Given the description of an element on the screen output the (x, y) to click on. 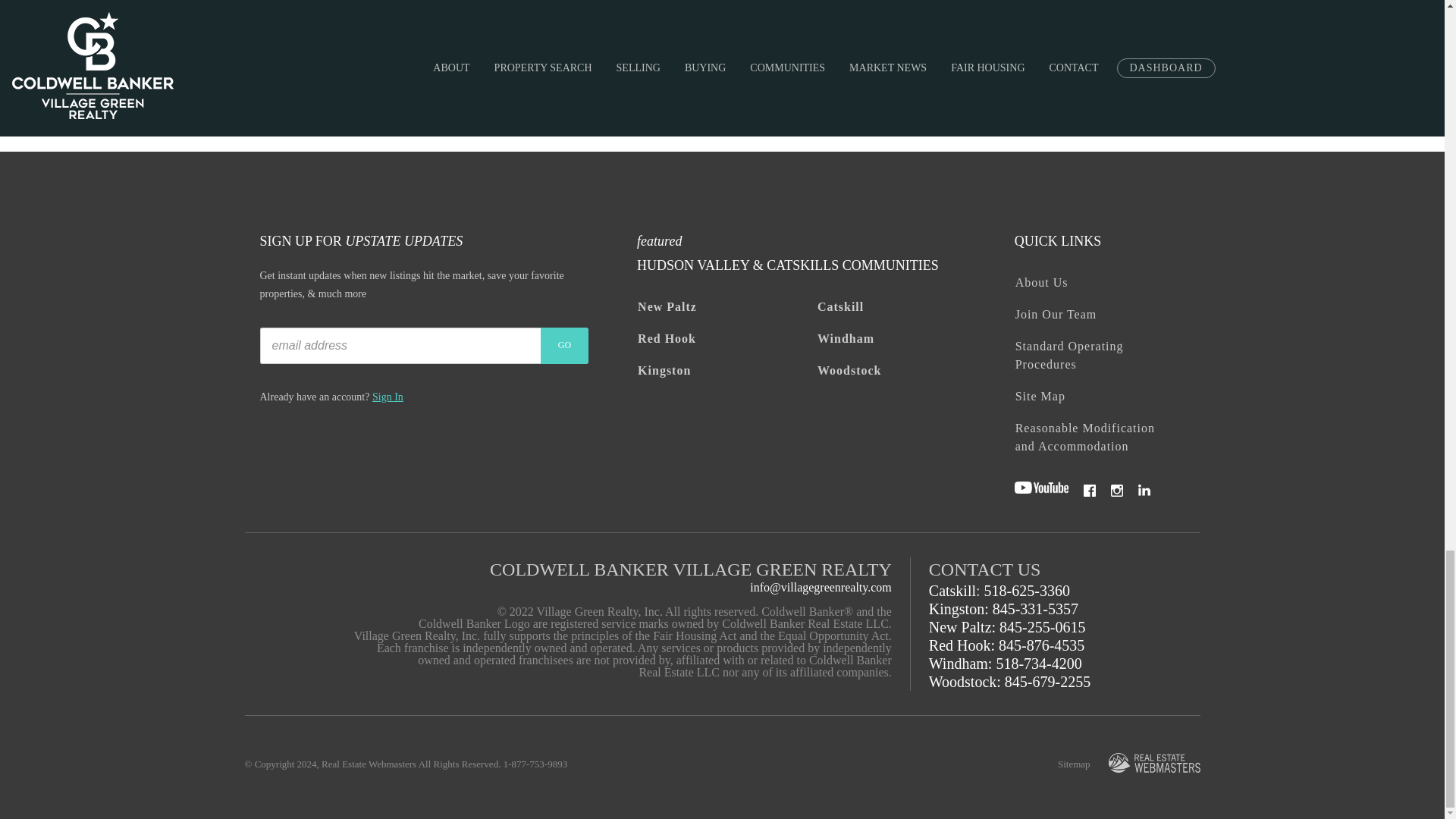
Facebook Icon (1089, 490)
Real Estate Webmasters Logo (1153, 762)
LinkedIn Icon (1144, 490)
Instagram Icon (1116, 490)
Real Estate Webmasters (1153, 763)
